Given the description of an element on the screen output the (x, y) to click on. 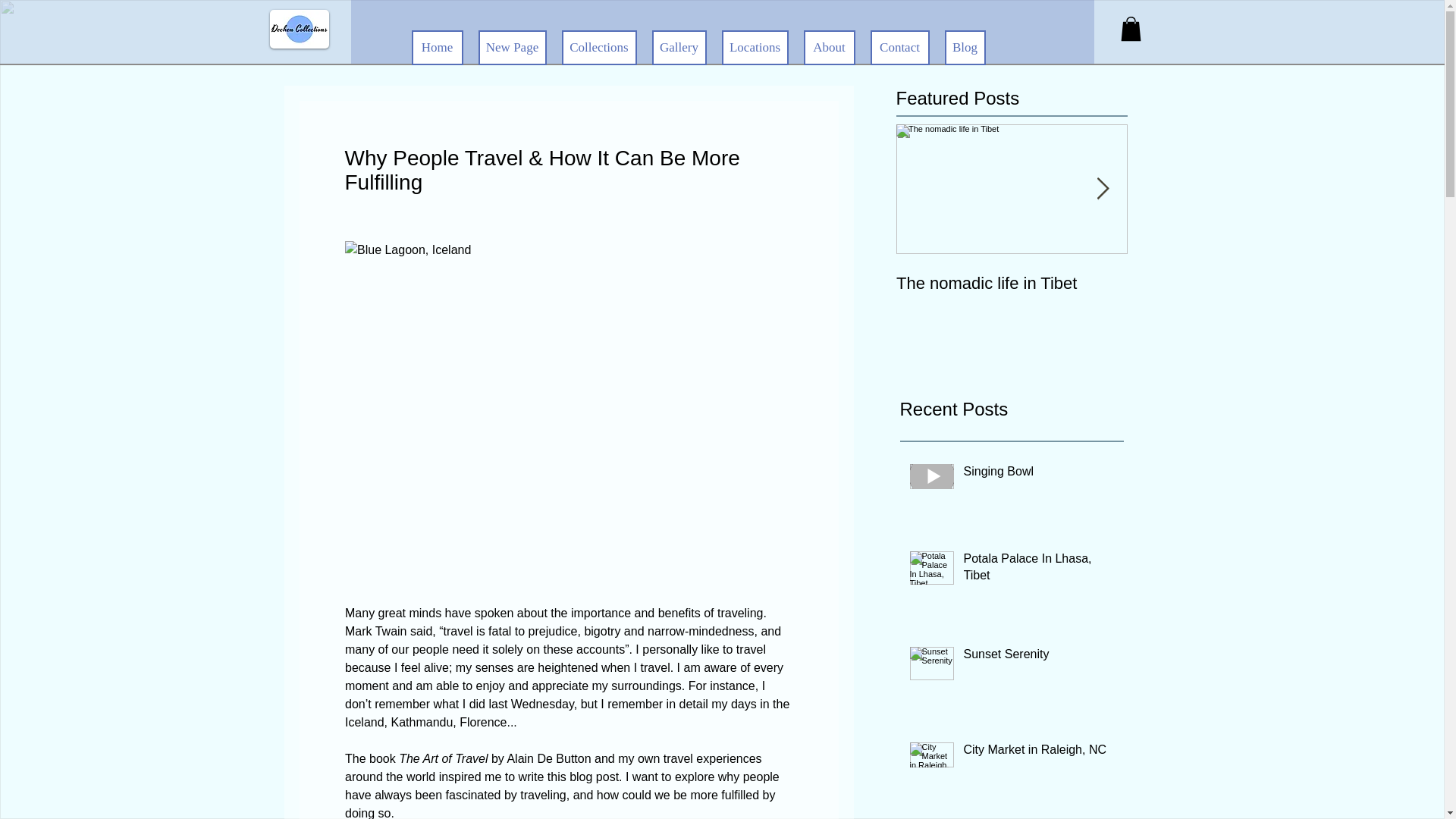
Home (436, 47)
Collections (598, 47)
Potala Palace In Lhasa, Tibet (1040, 570)
Contact (900, 47)
The nomadic life in Tibet (1011, 283)
Locations (755, 47)
Things to know about Singing Bowls (1242, 292)
About (1011, 249)
Gallery (829, 47)
